Given the description of an element on the screen output the (x, y) to click on. 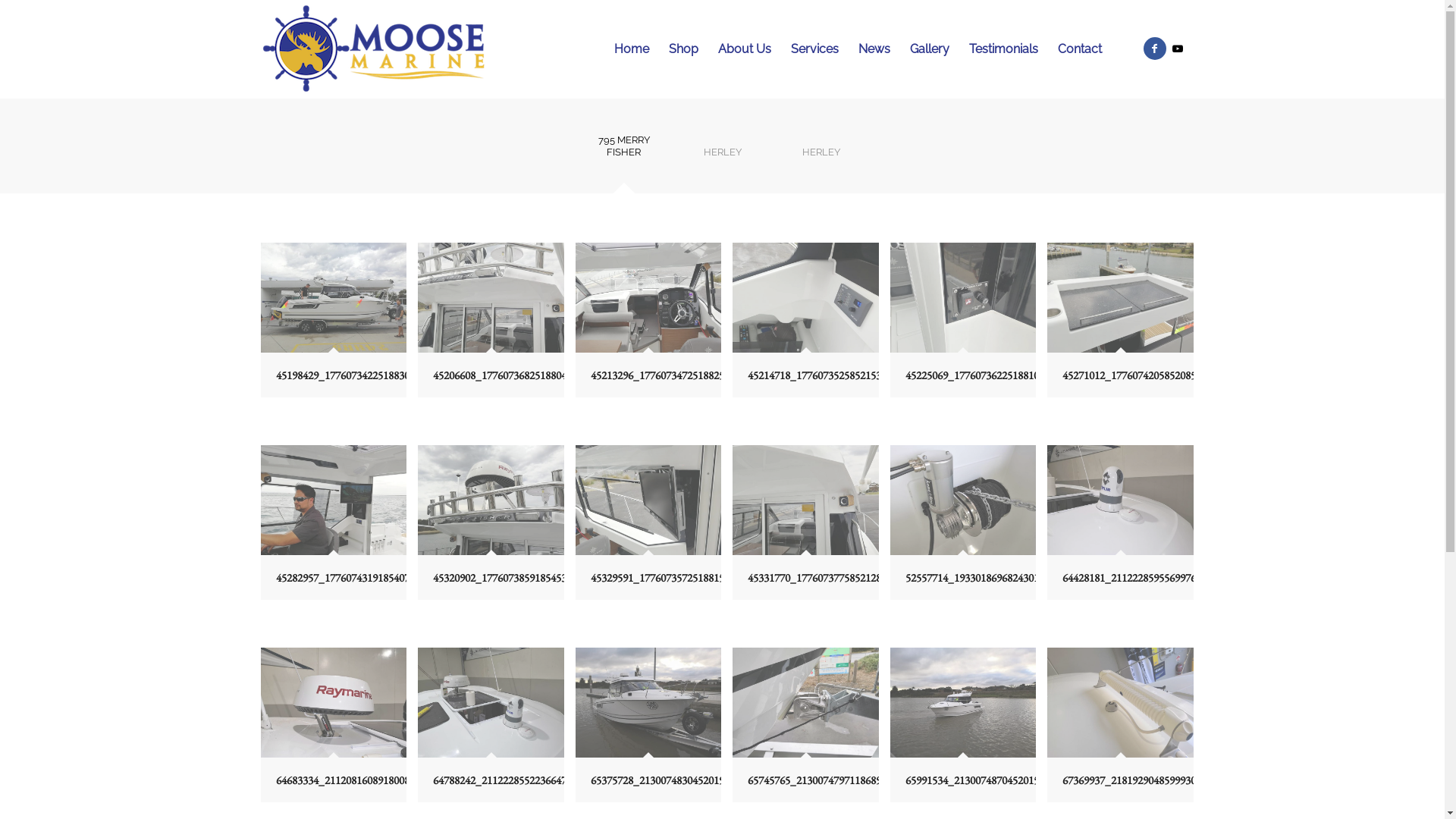
Shop Element type: text (682, 49)
Facebook Element type: hover (1154, 48)
65375728_2130074830452019_7383355249215406080_n Element type: text (653, 730)
News Element type: text (873, 49)
64788242_2112228552236647_1411306681299632128_n Element type: text (495, 730)
45329591_1776073572518815_4914582445174554624_n Element type: hover (648, 499)
Contact Element type: text (1079, 49)
65375728_2130074830452019_7383355249215406080_n Element type: hover (648, 701)
45320902_1776073859185453_6954107146682236928_n Element type: text (495, 528)
Youtube Element type: hover (1177, 48)
64683334_2112081608918008_5306053243732754432_n Element type: text (338, 730)
65991534_2130074870452015_3408758231068049408_n Element type: hover (962, 701)
65991534_2130074870452015_3408758231068049408_n Element type: text (968, 730)
45225069_1776073622518810_9007480214321627136_n Element type: hover (962, 296)
About Us Element type: text (744, 49)
45206608_1776073682518804_5607768567358423040_n Element type: hover (490, 296)
HERLEY Element type: text (820, 156)
45331770_1776073775852128_2457291475990347776_n Element type: text (810, 528)
45271012_1776074205852085_5701429159700463616_n Element type: hover (1119, 296)
Testimonials Element type: text (1002, 49)
45271012_1776074205852085_5701429159700463616_n Element type: text (1125, 325)
45213296_1776073472518825_8524078969392201728_n Element type: hover (648, 296)
64428181_2112228595569976_6538705168307847168_n Element type: text (1125, 528)
45225069_1776073622518810_9007480214321627136_n Element type: text (968, 325)
Gallery Element type: text (928, 49)
45206608_1776073682518804_5607768567358423040_n Element type: text (495, 325)
45198429_1776073422518830_8430272670284644352_n Element type: hover (333, 296)
795 MERRY FISHER Element type: text (623, 150)
52557714_1933018696824301_4708384200619720704_n Element type: text (968, 528)
64428181_2112228595569976_6538705168307847168_n Element type: hover (1119, 499)
HERLEY Element type: text (722, 156)
45214718_1776073525852153_4654177950952849408_n Element type: hover (805, 296)
Home Element type: text (630, 49)
45198429_1776073422518830_8430272670284644352_n Element type: text (338, 325)
45282957_1776074319185407_3661739681772470272_n Element type: text (338, 528)
67369937_2181929048599930_2211113605670109184_n Element type: text (1125, 730)
67369937_2181929048599930_2211113605670109184_n Element type: hover (1119, 701)
45329591_1776073572518815_4914582445174554624_n Element type: text (653, 528)
64683334_2112081608918008_5306053243732754432_n Element type: hover (333, 701)
Services Element type: text (814, 49)
45213296_1776073472518825_8524078969392201728_n Element type: text (653, 325)
64788242_2112228552236647_1411306681299632128_n Element type: hover (490, 701)
45282957_1776074319185407_3661739681772470272_n Element type: hover (333, 499)
65745765_2130074797118689_7789316099199205376_n Element type: hover (805, 701)
52557714_1933018696824301_4708384200619720704_n Element type: hover (962, 499)
65745765_2130074797118689_7789316099199205376_n Element type: text (810, 730)
45320902_1776073859185453_6954107146682236928_n Element type: hover (490, 499)
45331770_1776073775852128_2457291475990347776_n Element type: hover (805, 499)
45214718_1776073525852153_4654177950952849408_n Element type: text (810, 325)
